Given the description of an element on the screen output the (x, y) to click on. 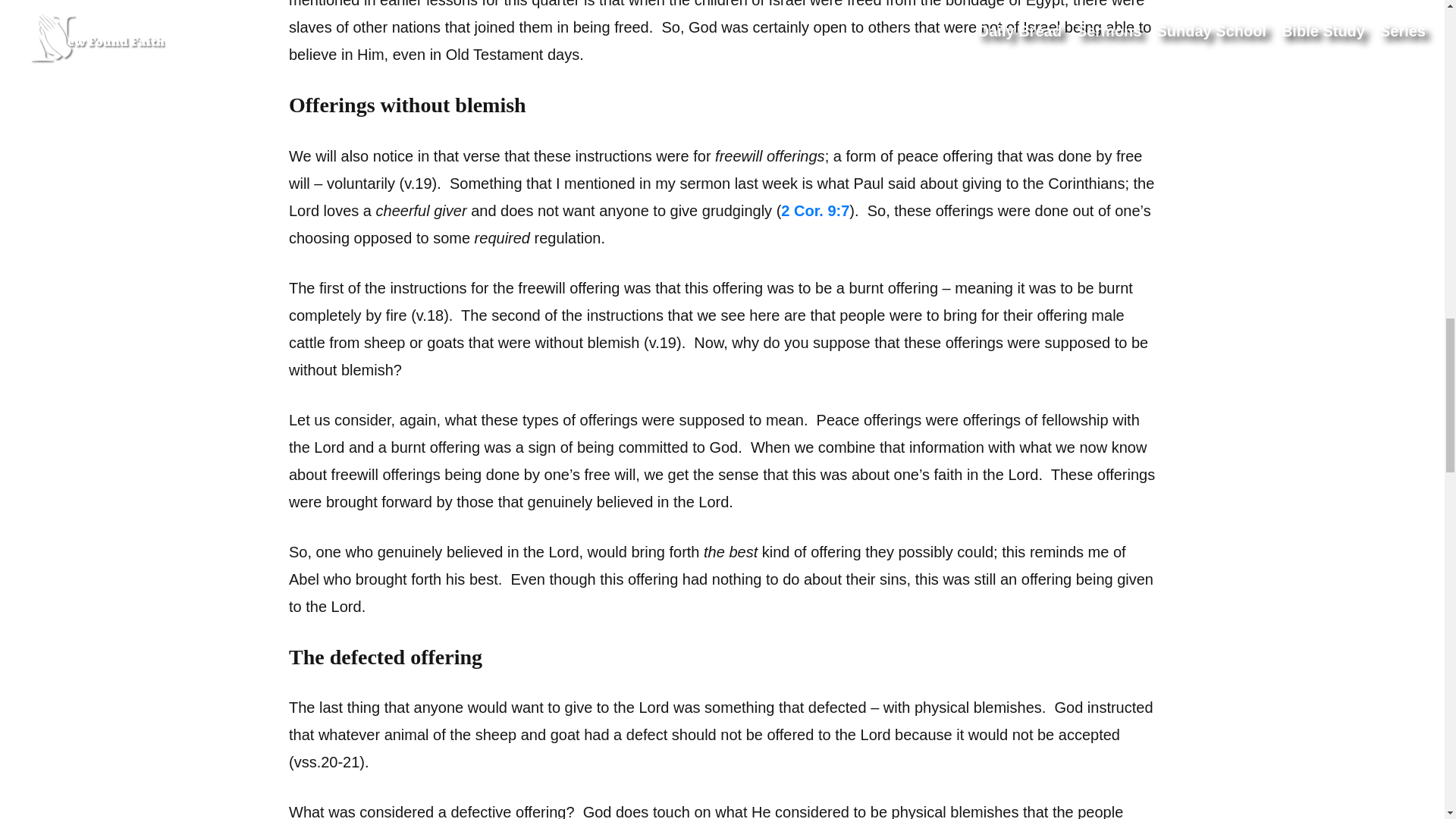
2 Cor. 9:7 (814, 210)
